Given the description of an element on the screen output the (x, y) to click on. 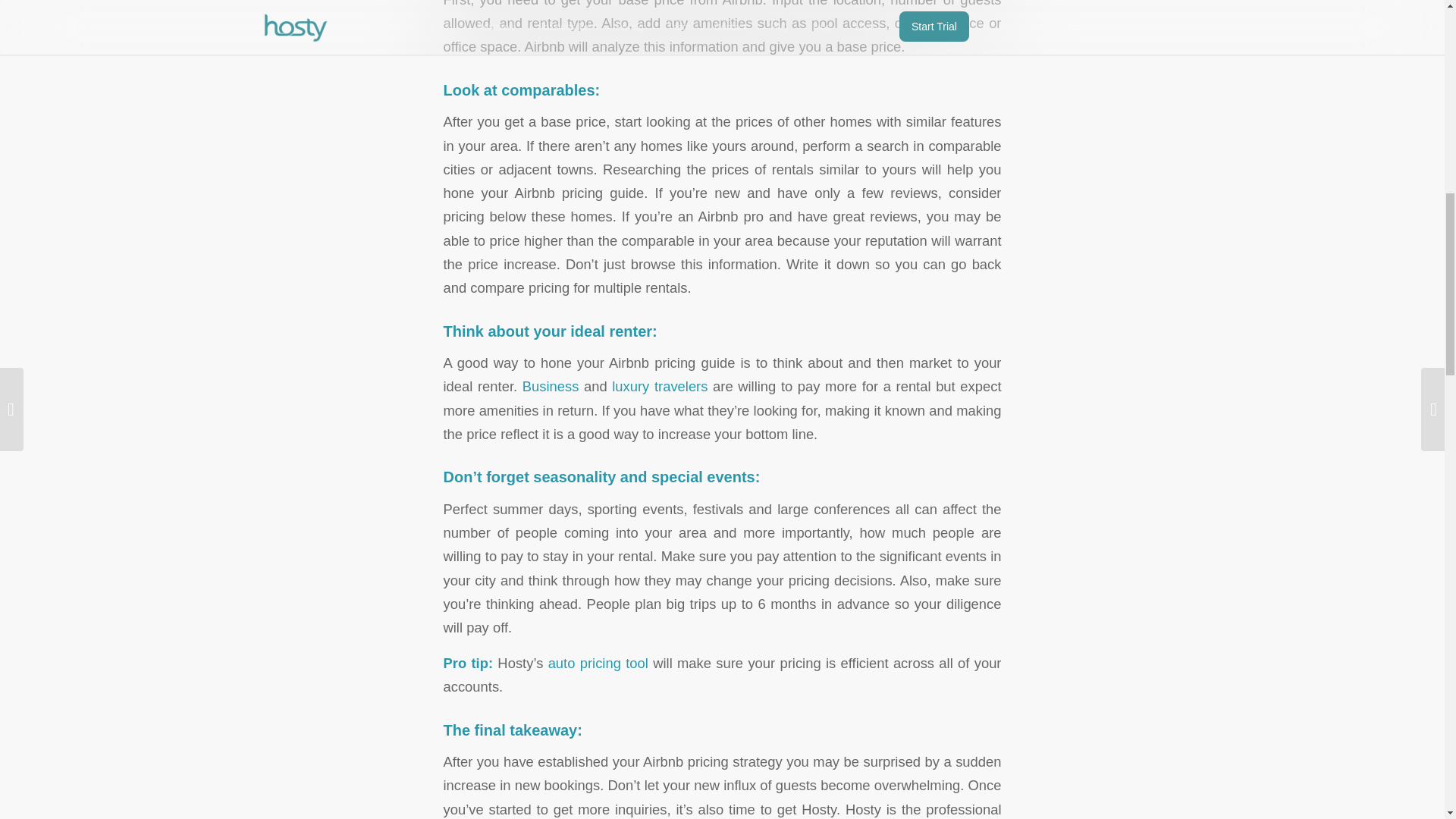
Business (550, 385)
auto pricing tool (597, 662)
luxury travelers (659, 385)
